Given the description of an element on the screen output the (x, y) to click on. 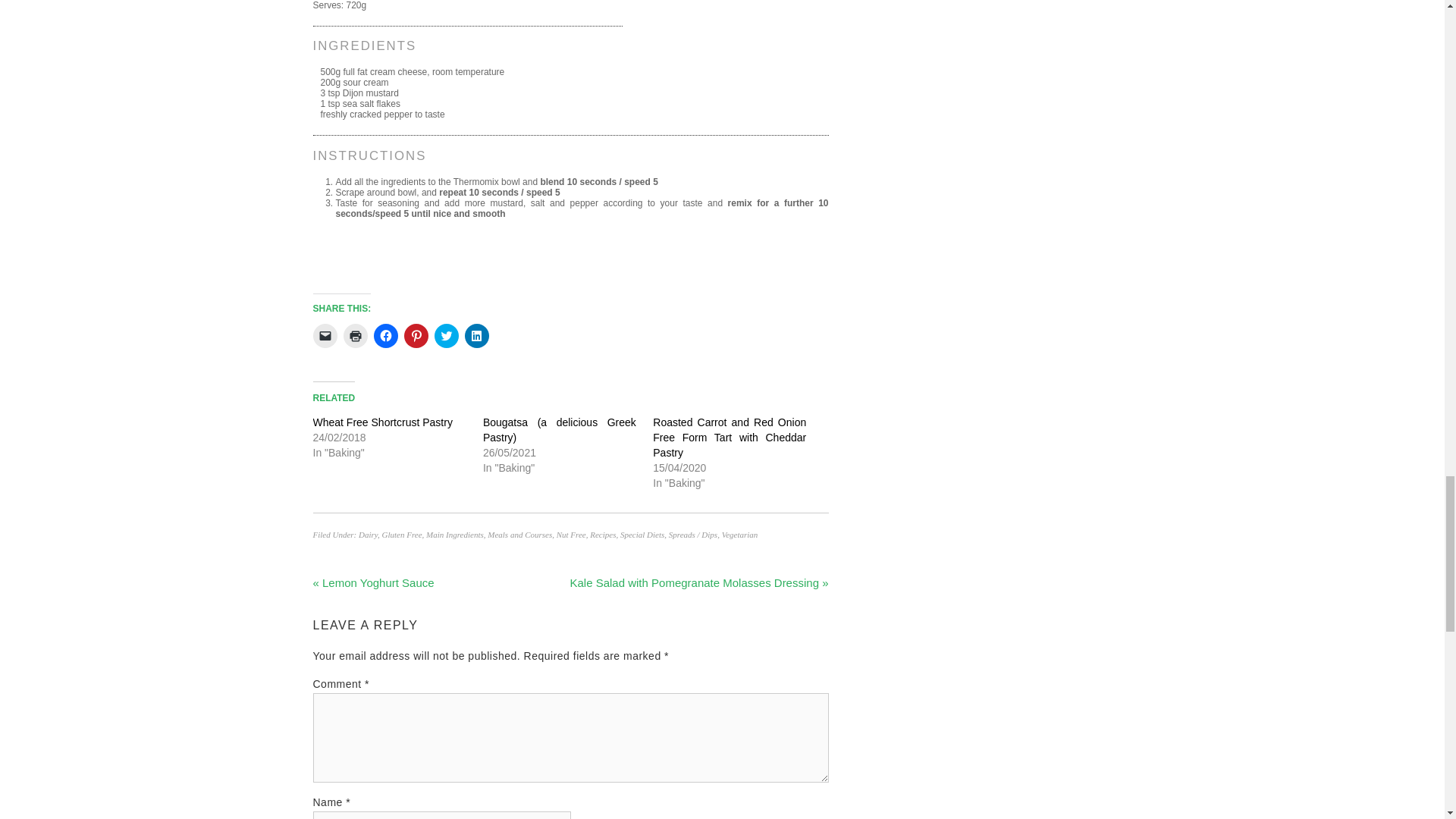
Click to share on Pinterest (415, 335)
Click to share on Twitter (445, 335)
Click to share on LinkedIn (475, 335)
Click to print (354, 335)
Wheat Free Shortcrust Pastry (382, 422)
Click to share on Facebook (384, 335)
Click to email a link to a friend (324, 335)
